Given the description of an element on the screen output the (x, y) to click on. 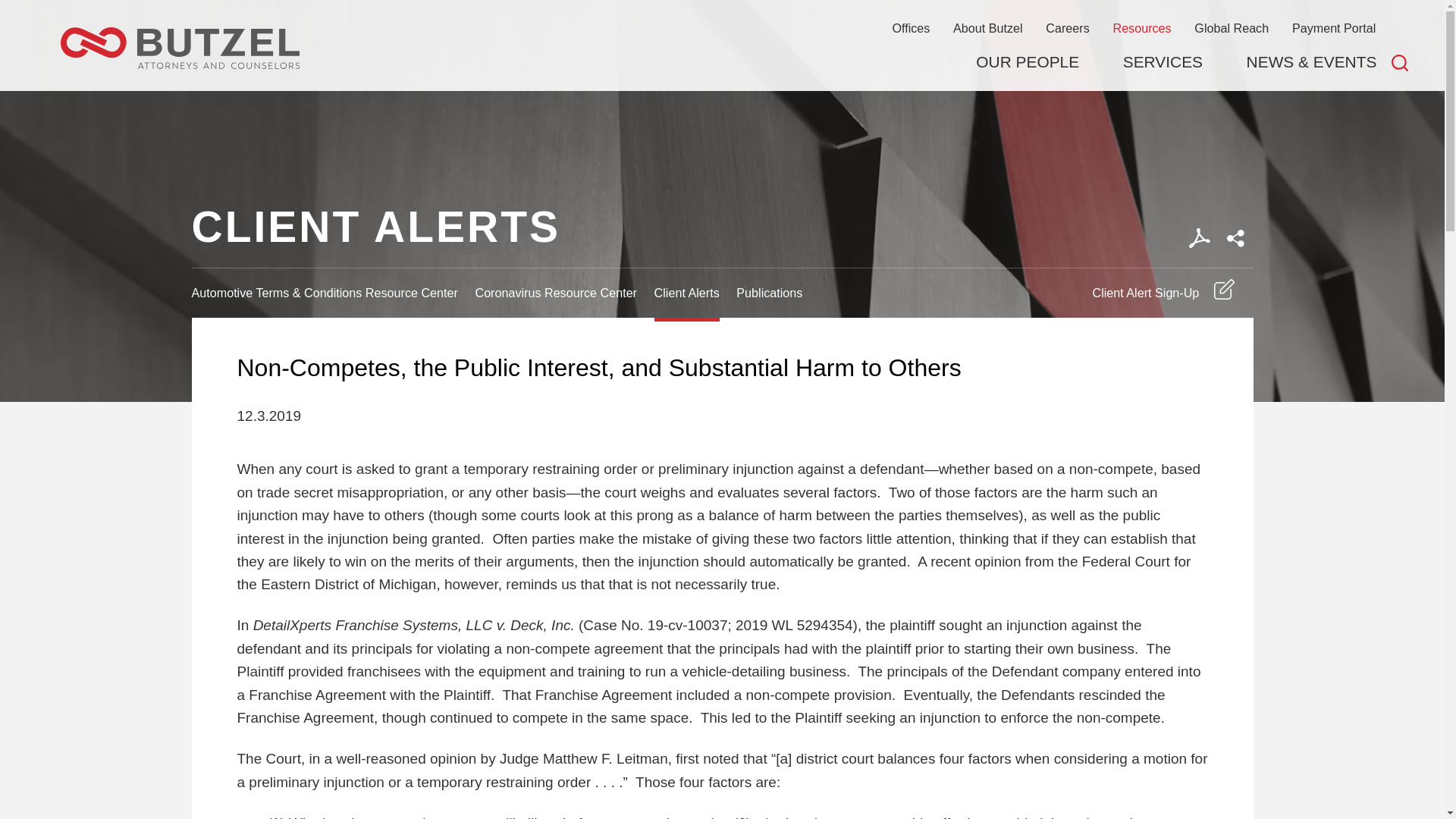
Main Content (667, 19)
Menu (674, 19)
Search (1399, 62)
SERVICES (1162, 61)
Main Menu (674, 19)
OUR PEOPLE (1026, 61)
Share (1235, 238)
